Given the description of an element on the screen output the (x, y) to click on. 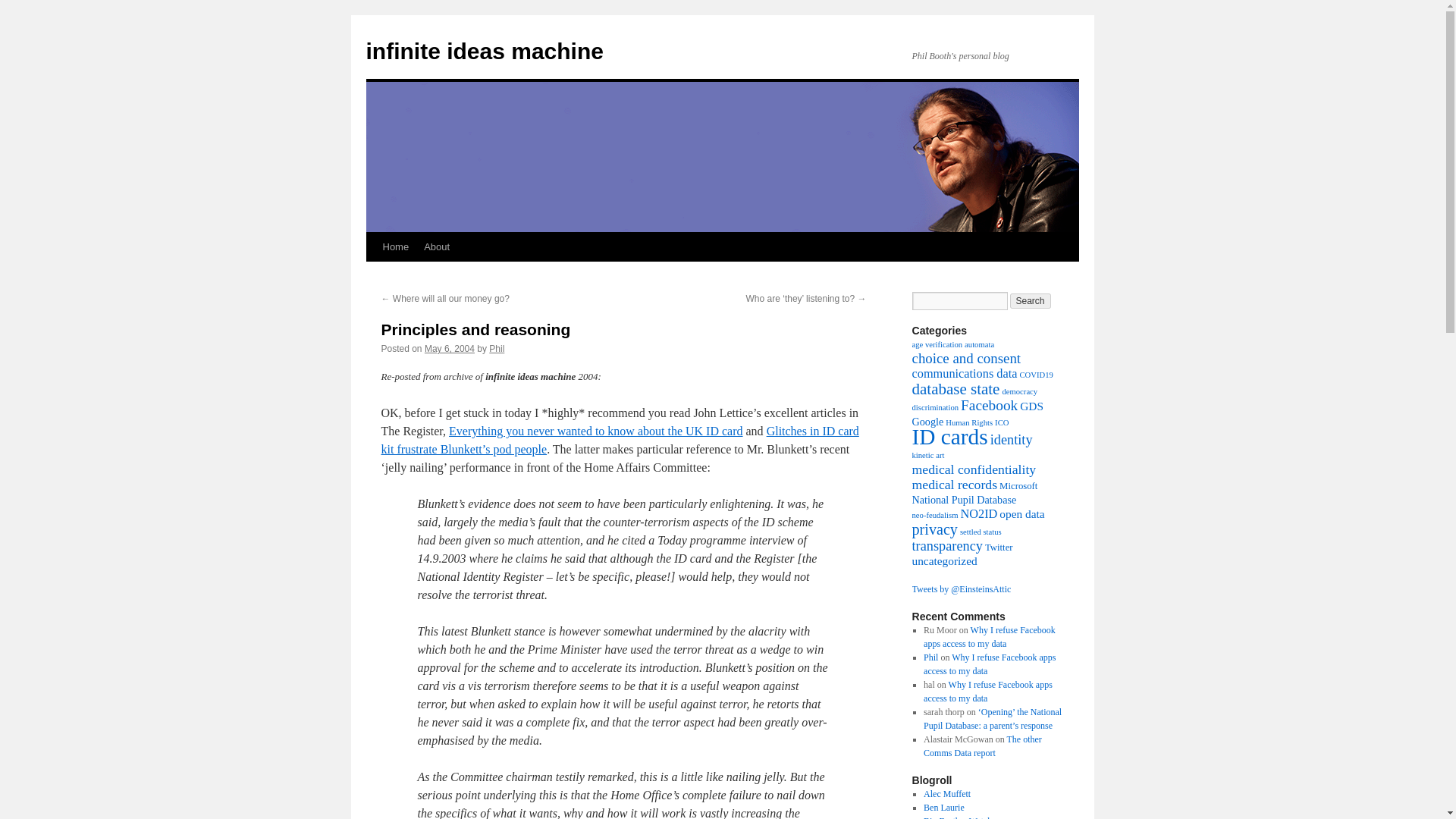
May 6, 2004 (449, 348)
discrimination (934, 407)
age verification (936, 344)
COVID19 (1035, 375)
democracy (1018, 391)
ICO (1001, 422)
6:03 pm (449, 348)
Phil (496, 348)
database state (954, 389)
GDS (1031, 405)
